Given the description of an element on the screen output the (x, y) to click on. 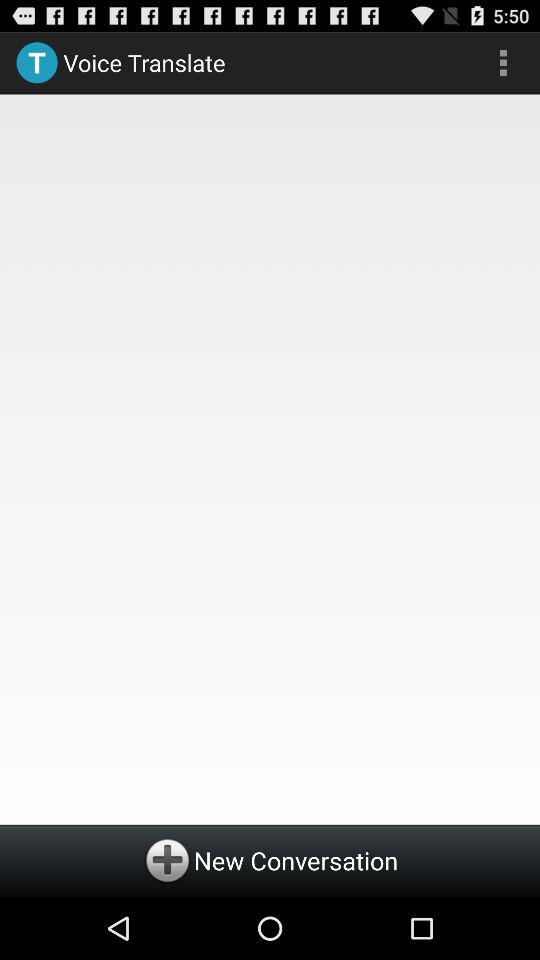
add new conversation (270, 860)
